Given the description of an element on the screen output the (x, y) to click on. 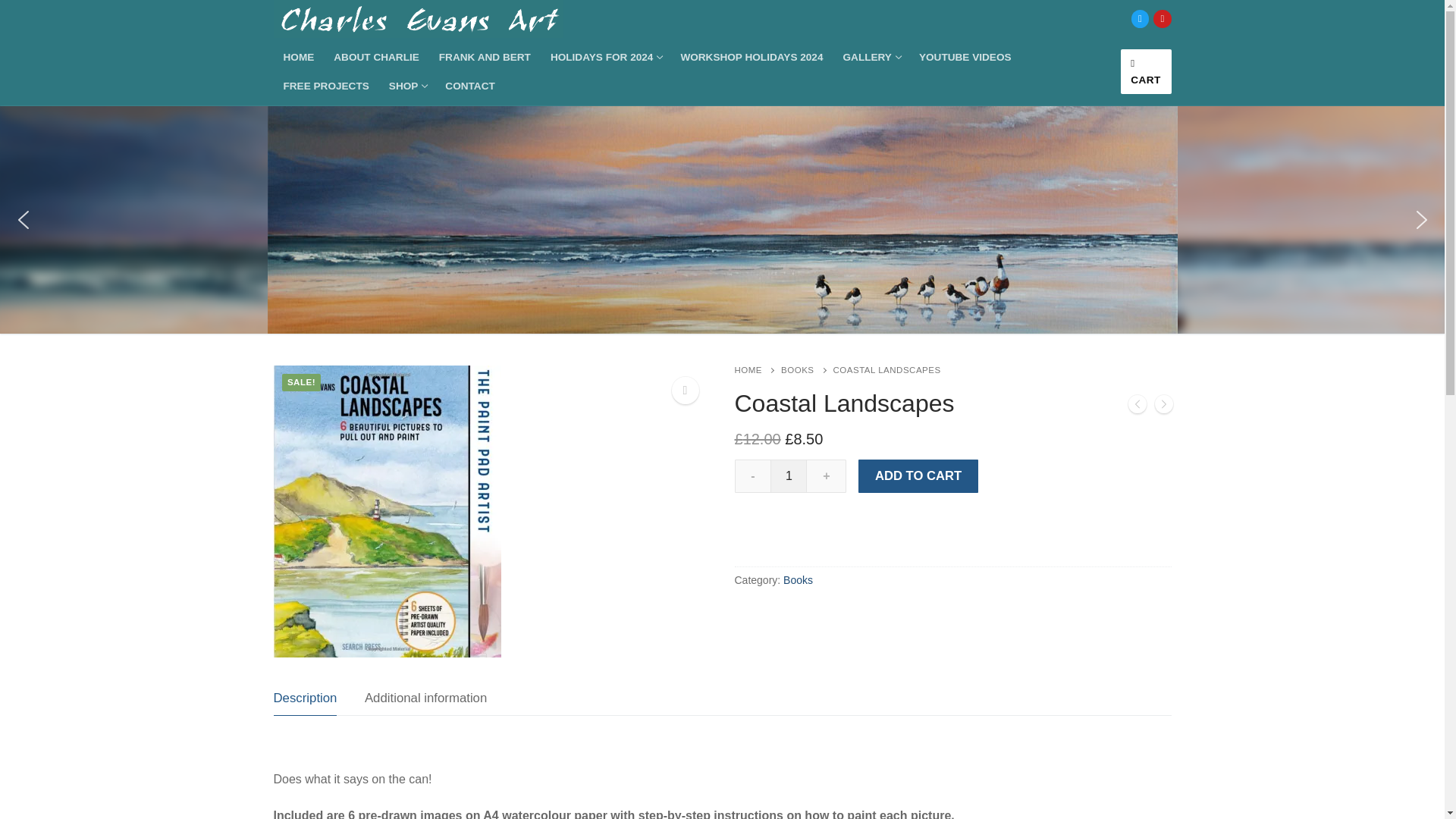
CART (870, 57)
Youtube (1146, 71)
1 (604, 57)
ABOUT CHARLIE (1162, 18)
CONTACT (788, 476)
YOUTUBE VIDEOS (376, 57)
WORKSHOP HOLIDAYS 2024 (469, 86)
HOME (965, 57)
FREE PROJECTS (750, 57)
FRANK AND BERT (298, 57)
Twitter (325, 86)
